Given the description of an element on the screen output the (x, y) to click on. 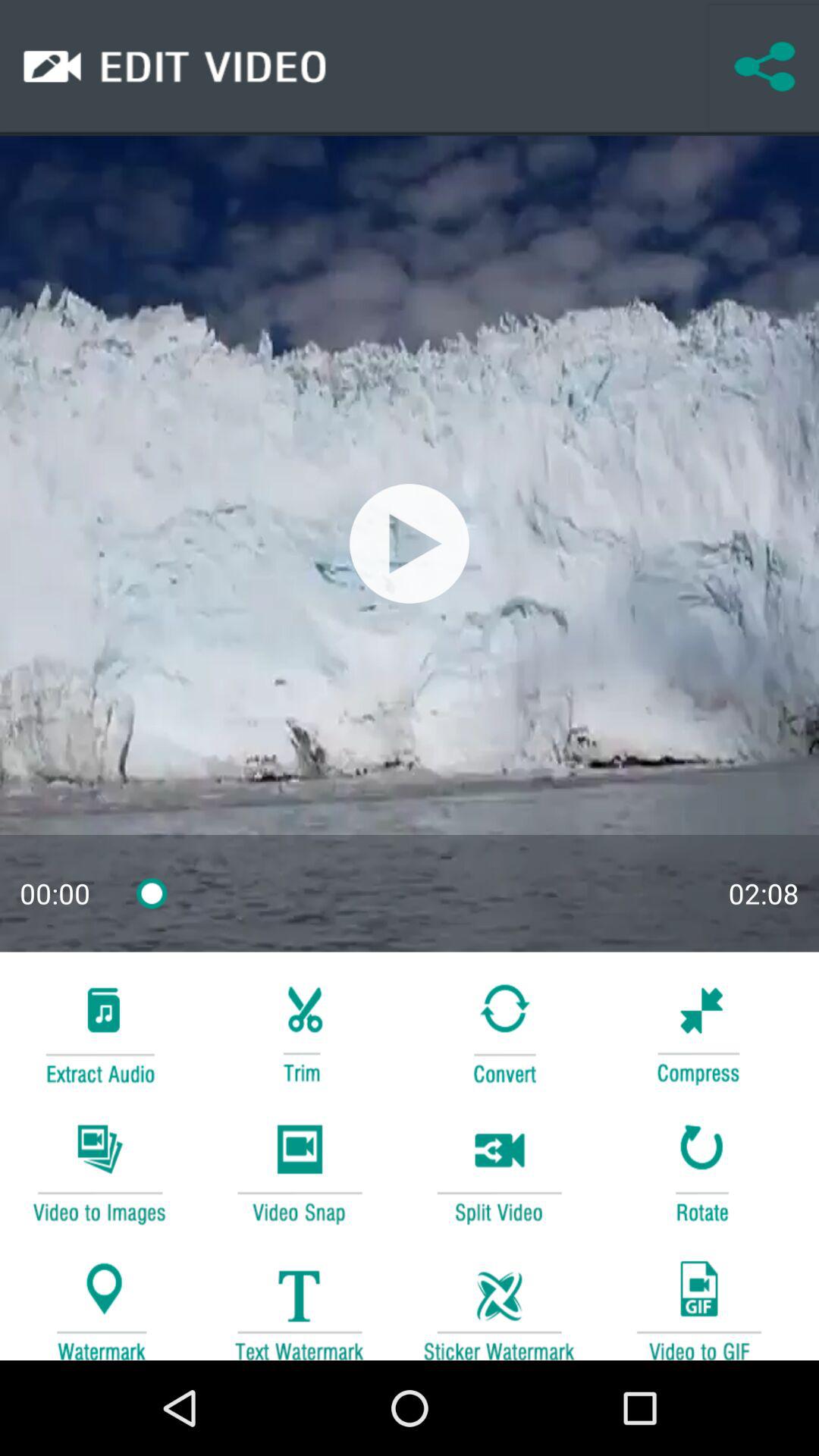
share (764, 67)
